Given the description of an element on the screen output the (x, y) to click on. 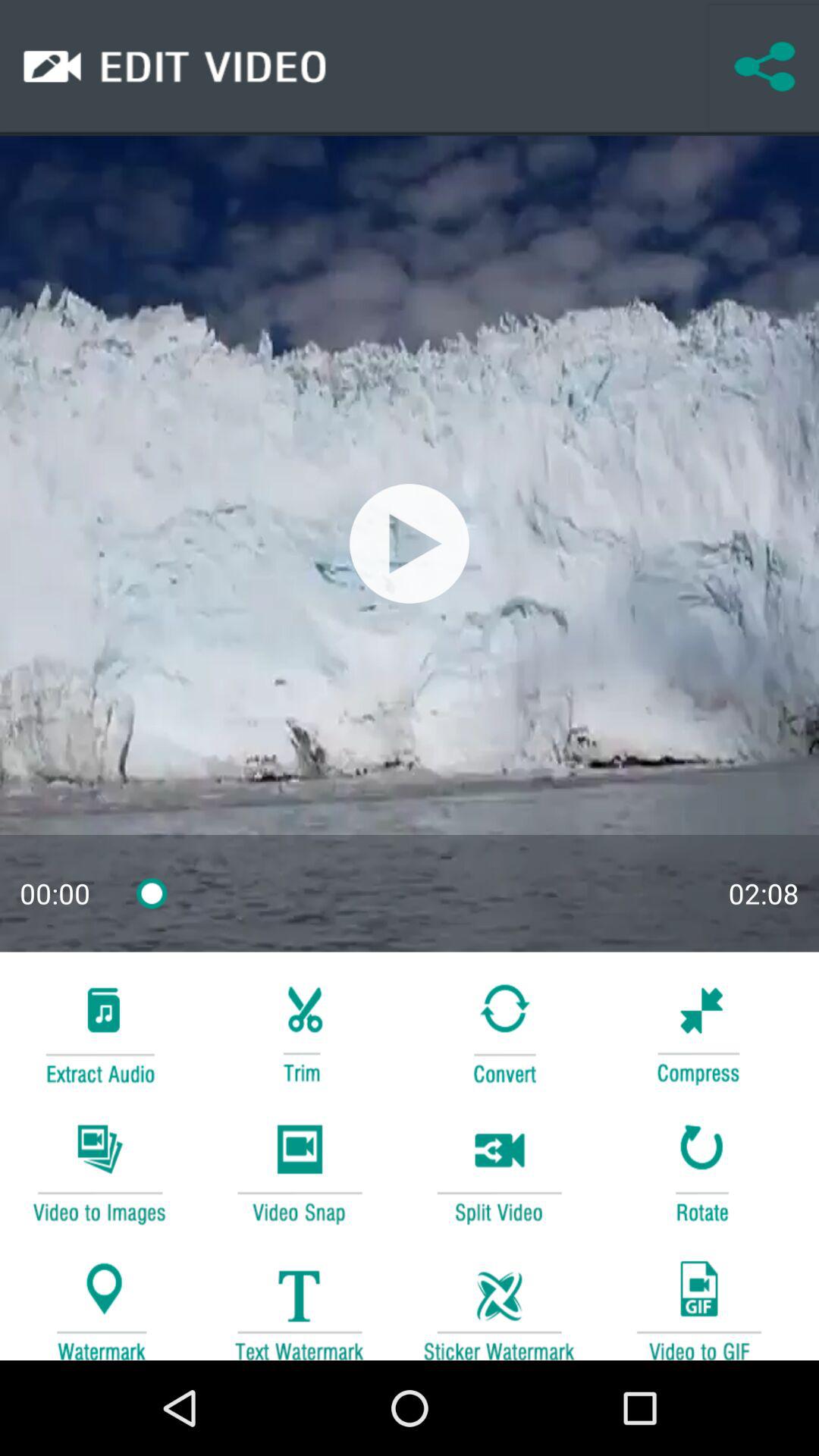
share (764, 67)
